Given the description of an element on the screen output the (x, y) to click on. 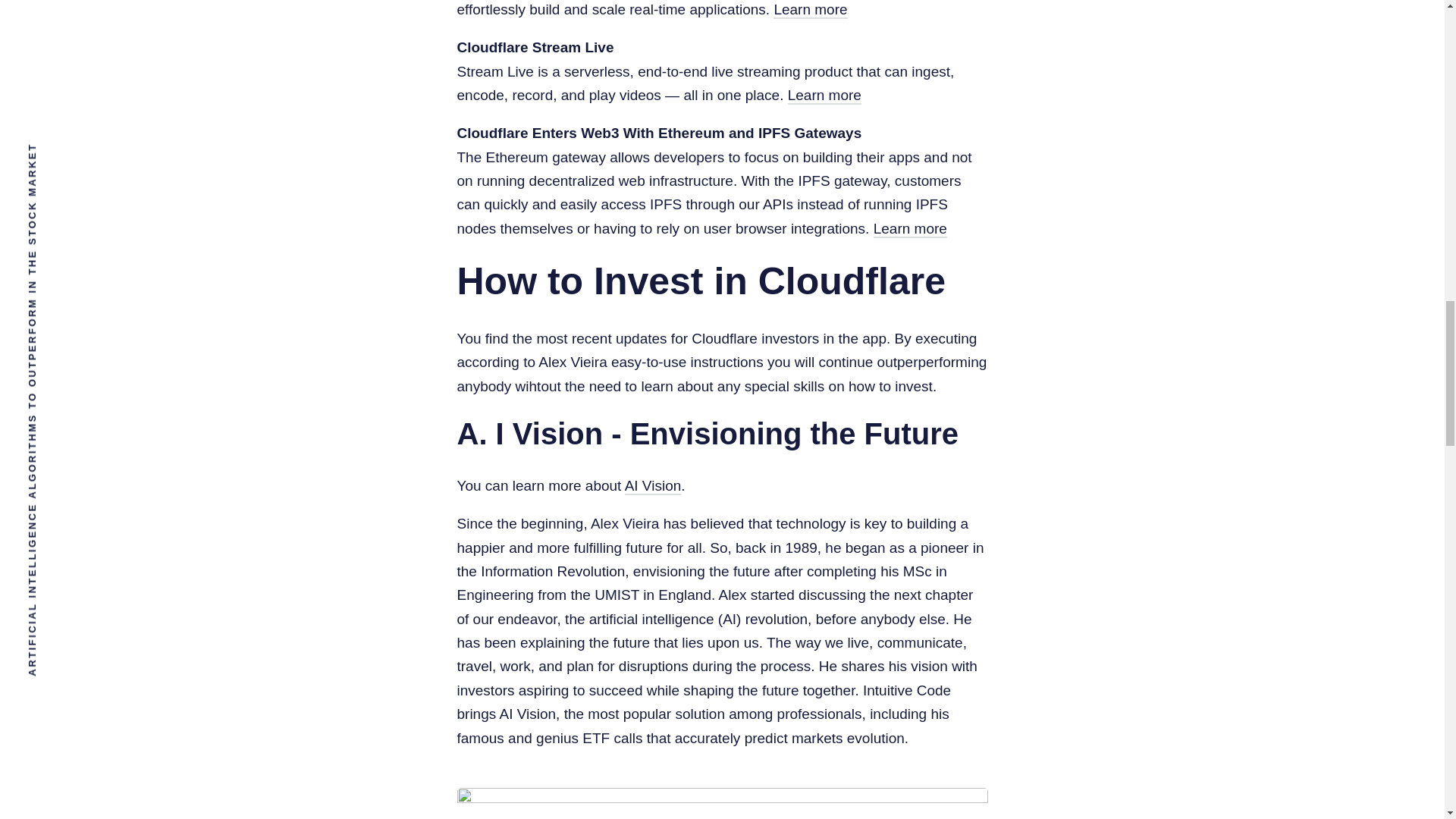
Learn more (824, 95)
Learn more (910, 229)
AI Vision (652, 486)
Learn more (810, 9)
